Given the description of an element on the screen output the (x, y) to click on. 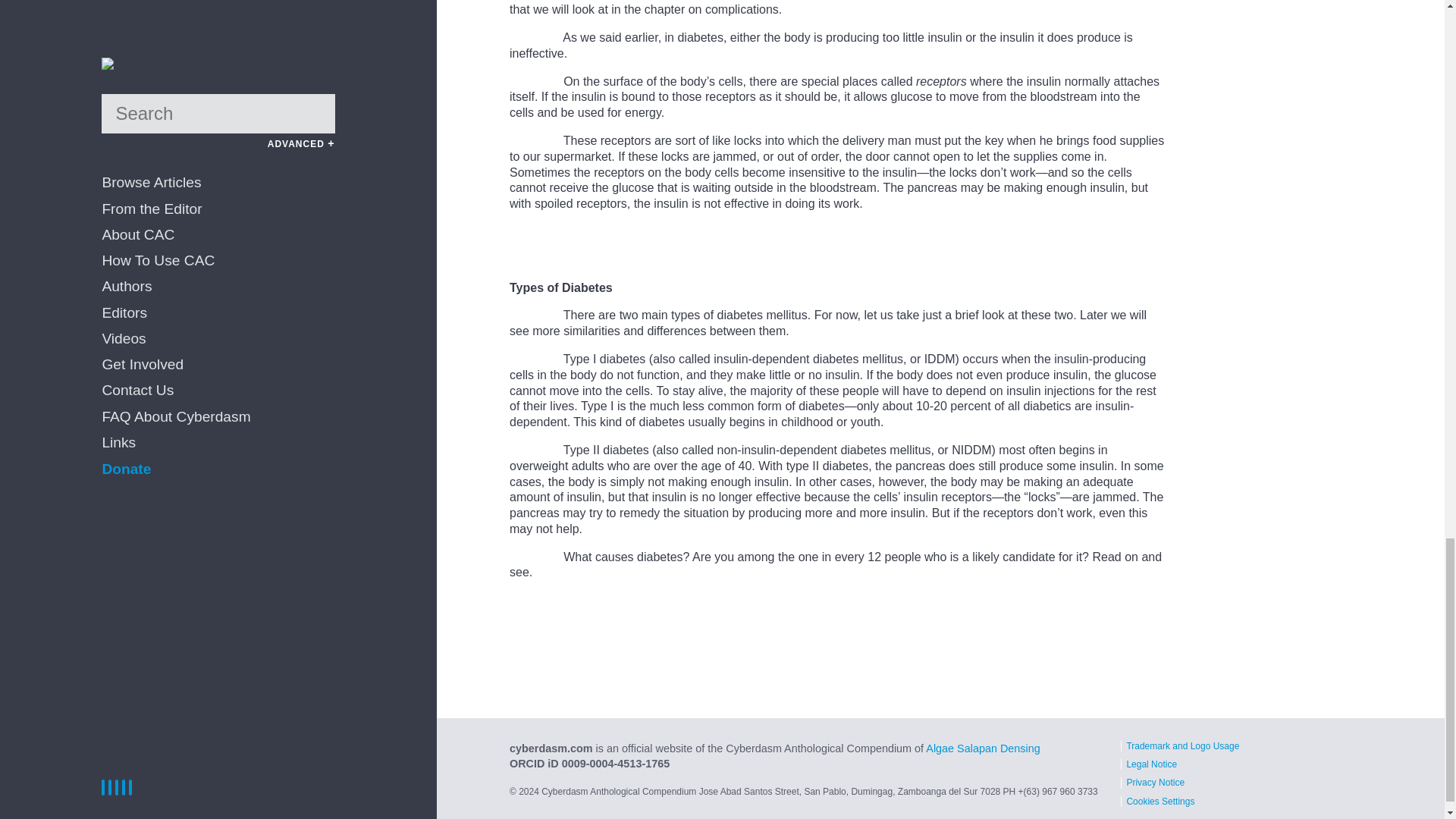
Algae Salapan Densing (982, 748)
